Given the description of an element on the screen output the (x, y) to click on. 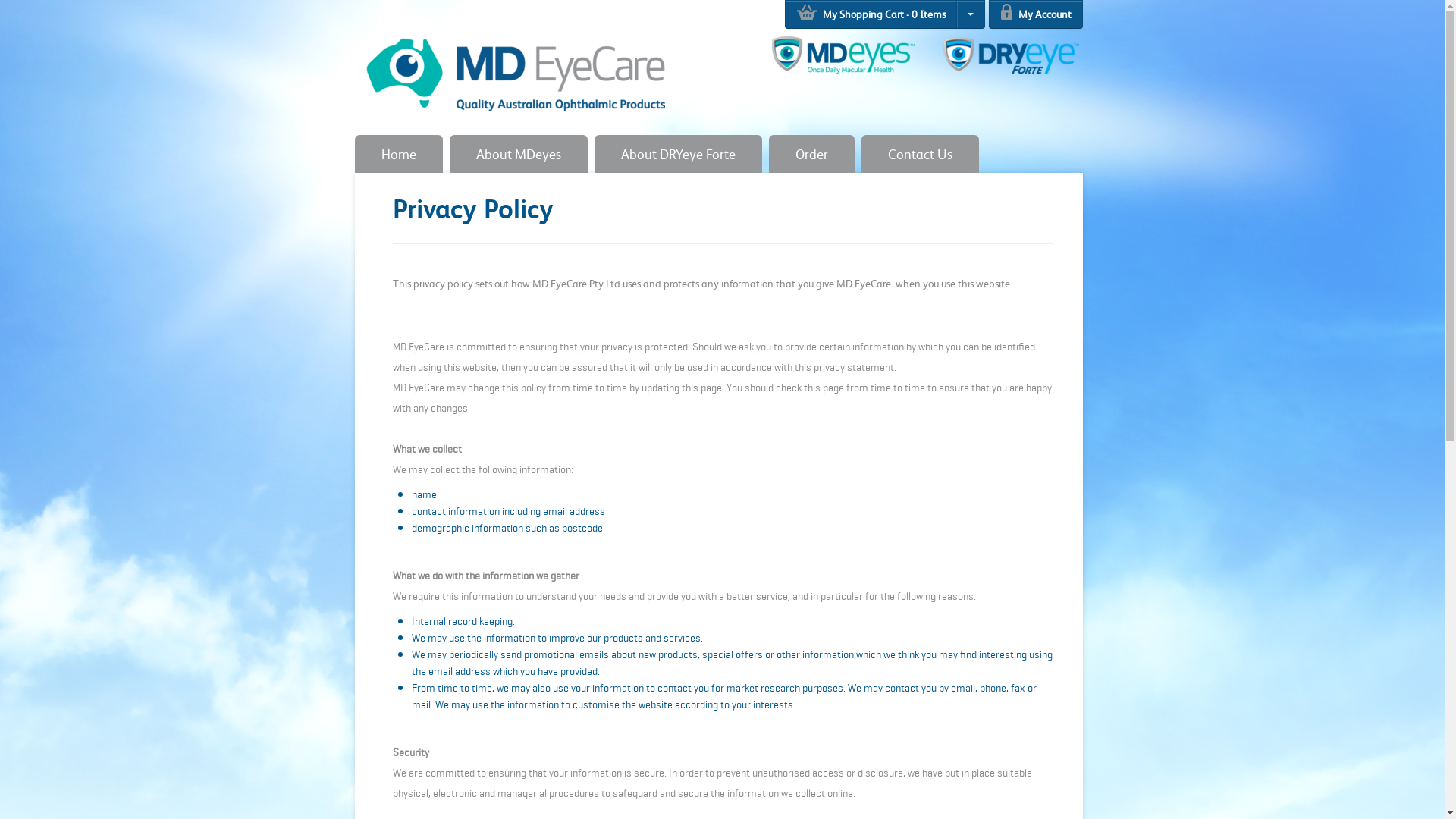
My Shopping Cart - 0 Items Element type: text (870, 14)
Home Element type: text (398, 153)
MD EyeCare Element type: hover (513, 65)
My Account Element type: text (1035, 14)
Contact Us Element type: text (920, 153)
About DRYeye Forte Element type: text (678, 153)
About MDeyes Element type: text (517, 153)
Order Element type: text (811, 153)
